Given the description of an element on the screen output the (x, y) to click on. 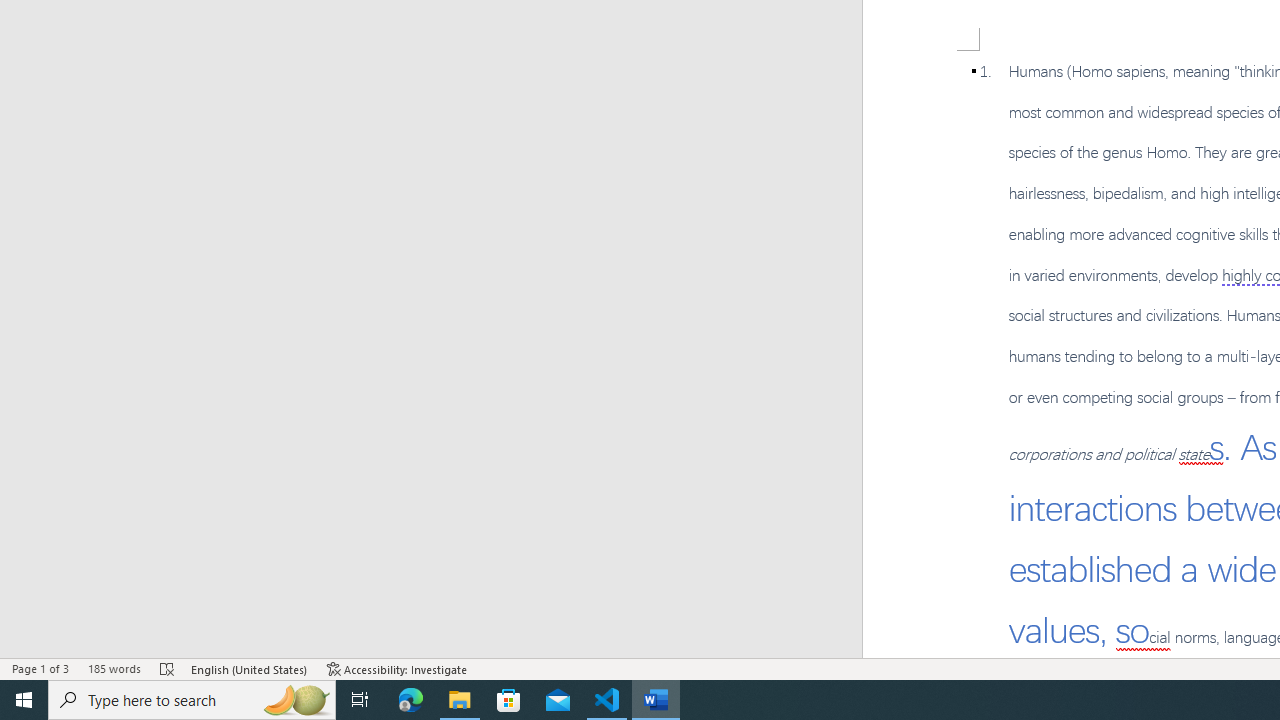
Page Number Page 1 of 3 (39, 668)
Spelling and Grammar Check Errors (168, 668)
